Given the description of an element on the screen output the (x, y) to click on. 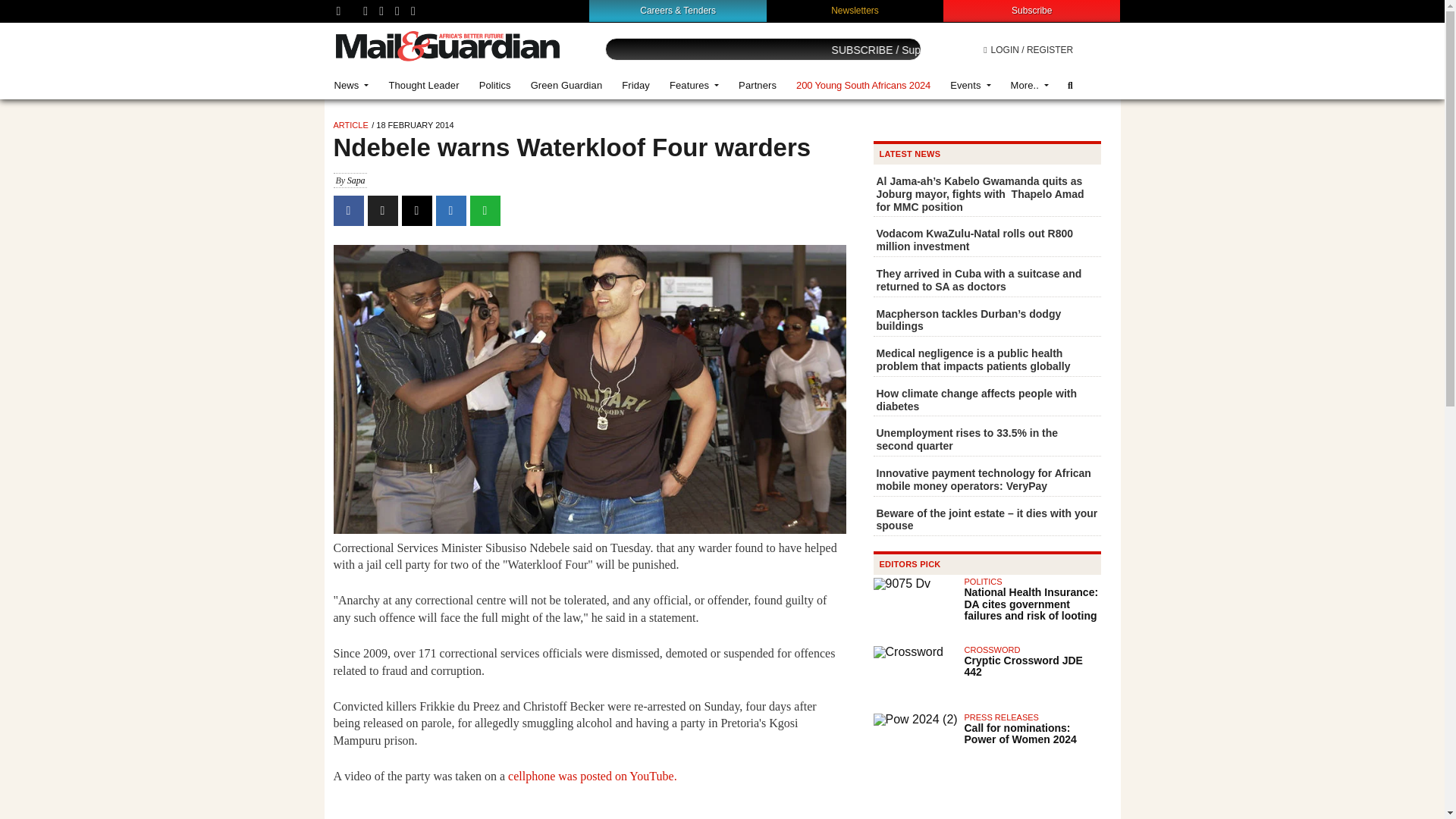
News (351, 85)
Features (694, 85)
News (351, 85)
Friday (635, 85)
Green Guardian (566, 85)
Subscribe (1031, 9)
Thought Leader (423, 85)
Politics (494, 85)
Newsletters (855, 9)
